Given the description of an element on the screen output the (x, y) to click on. 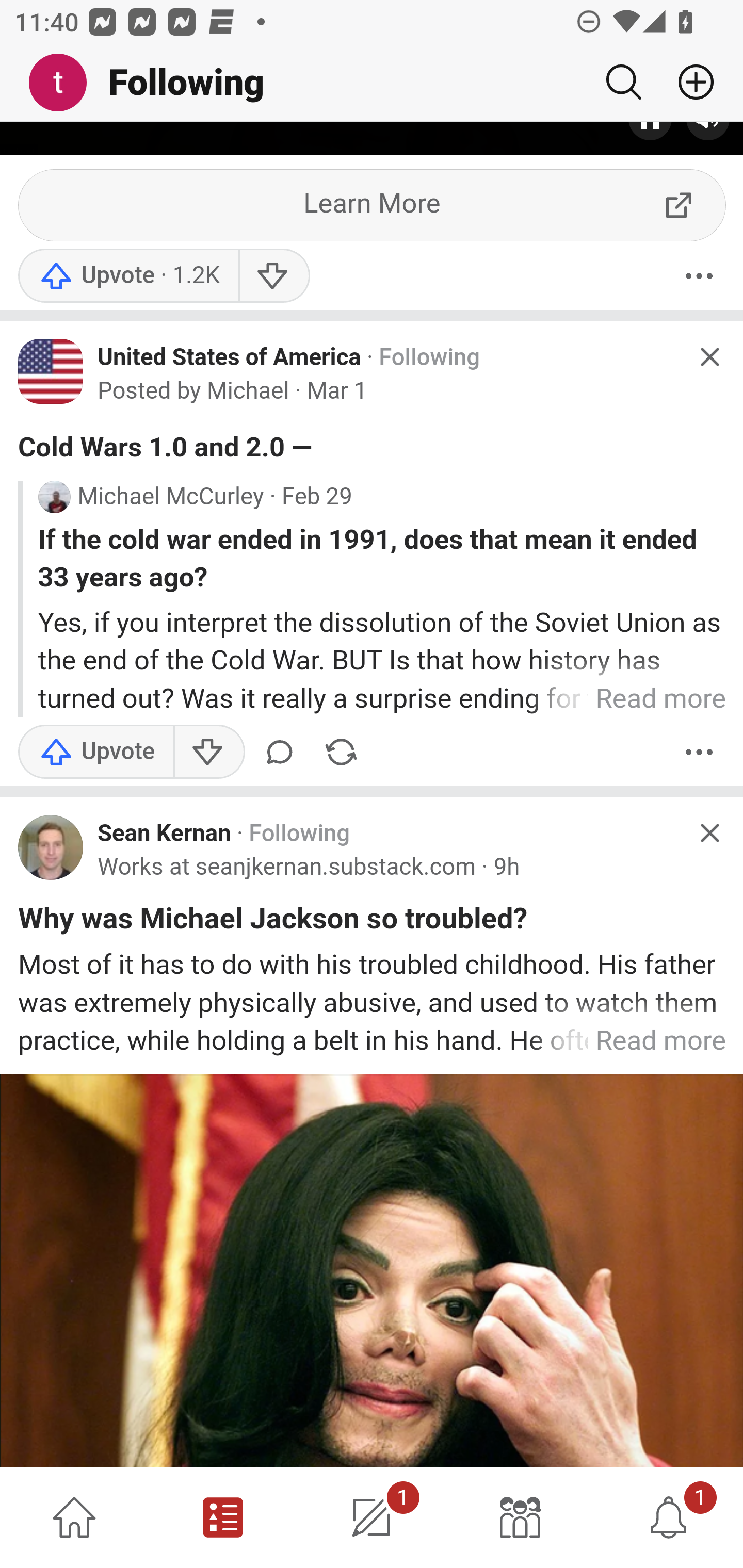
Me (64, 83)
Search (623, 82)
Add (688, 82)
Learn More ExternalLink (372, 207)
Upvote (127, 277)
Downvote (273, 277)
More (699, 277)
Hide (709, 357)
Icon for United States of America (50, 373)
United States of America (229, 358)
Following (428, 358)
Profile photo for Michael McCurley (54, 498)
Upvote (95, 753)
Downvote (208, 753)
Comment (283, 753)
Share (341, 753)
More (699, 753)
Hide (709, 833)
Profile photo for Sean Kernan (50, 848)
Sean Kernan (164, 834)
Following (299, 834)
1 (371, 1517)
1 (668, 1517)
